Given the description of an element on the screen output the (x, y) to click on. 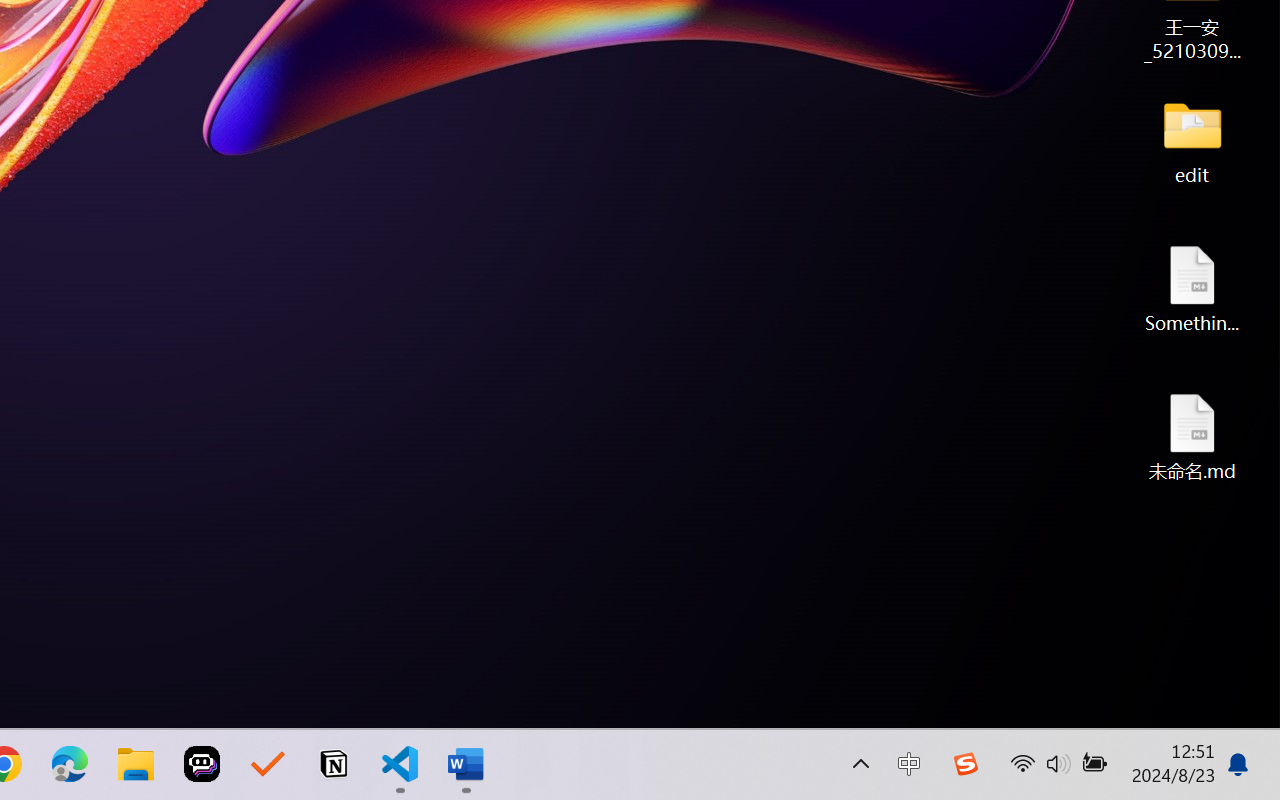
Something.md (1192, 288)
edit (1192, 140)
Microsoft Edge (69, 764)
